Given the description of an element on the screen output the (x, y) to click on. 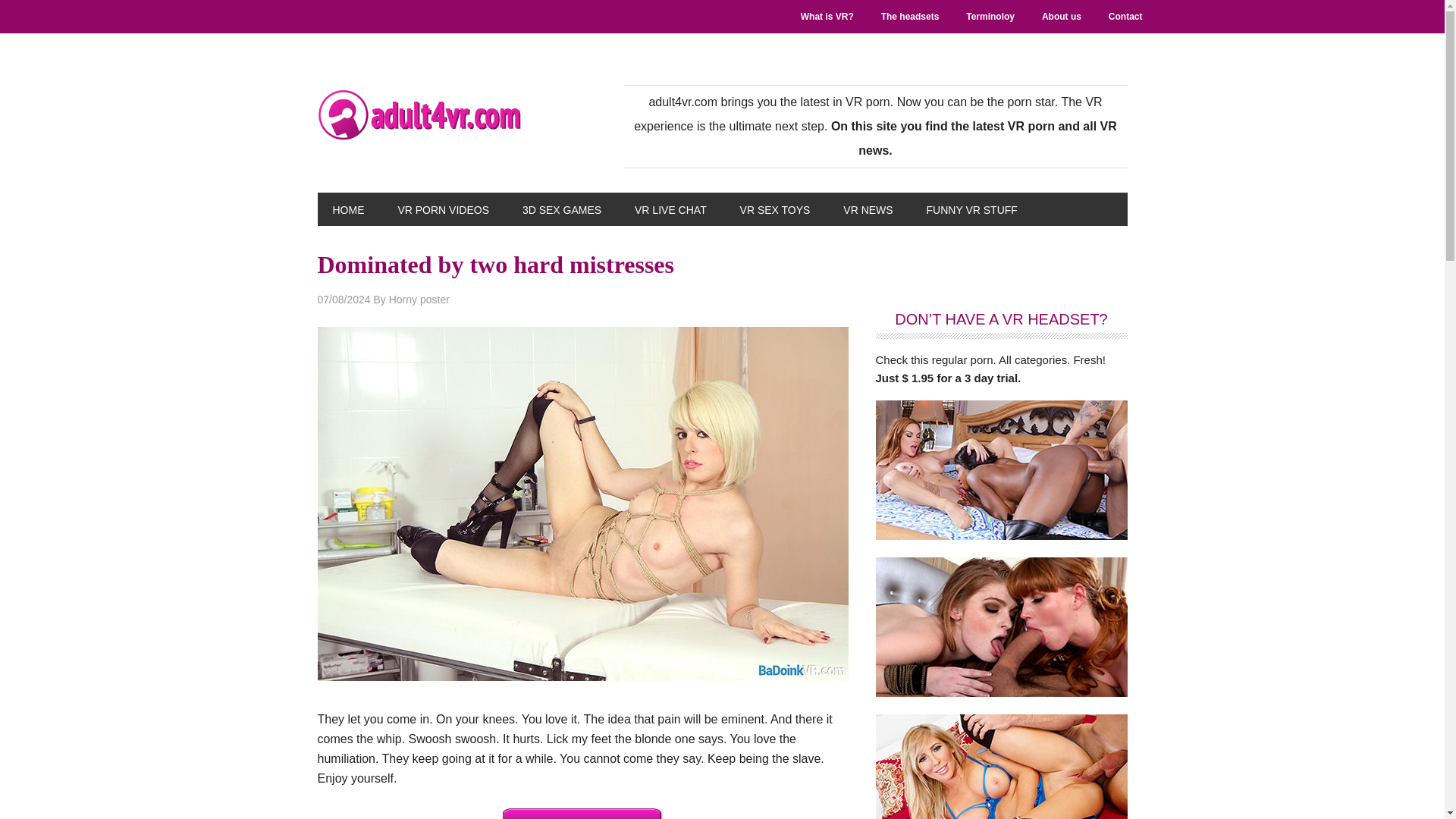
The headsets (910, 16)
VR PORN VIDEOS (442, 209)
VR SEX TOYS (775, 209)
Horny poster (418, 299)
VR NEWS (867, 209)
Terminoloy (989, 16)
HOME (347, 209)
ADULT4VR.COM (419, 115)
About us (1061, 16)
Contact (1125, 16)
3D SEX GAMES (560, 209)
What is VR? (827, 16)
FUNNY VR STUFF (971, 209)
VR LIVE CHAT (671, 209)
